Given the description of an element on the screen output the (x, y) to click on. 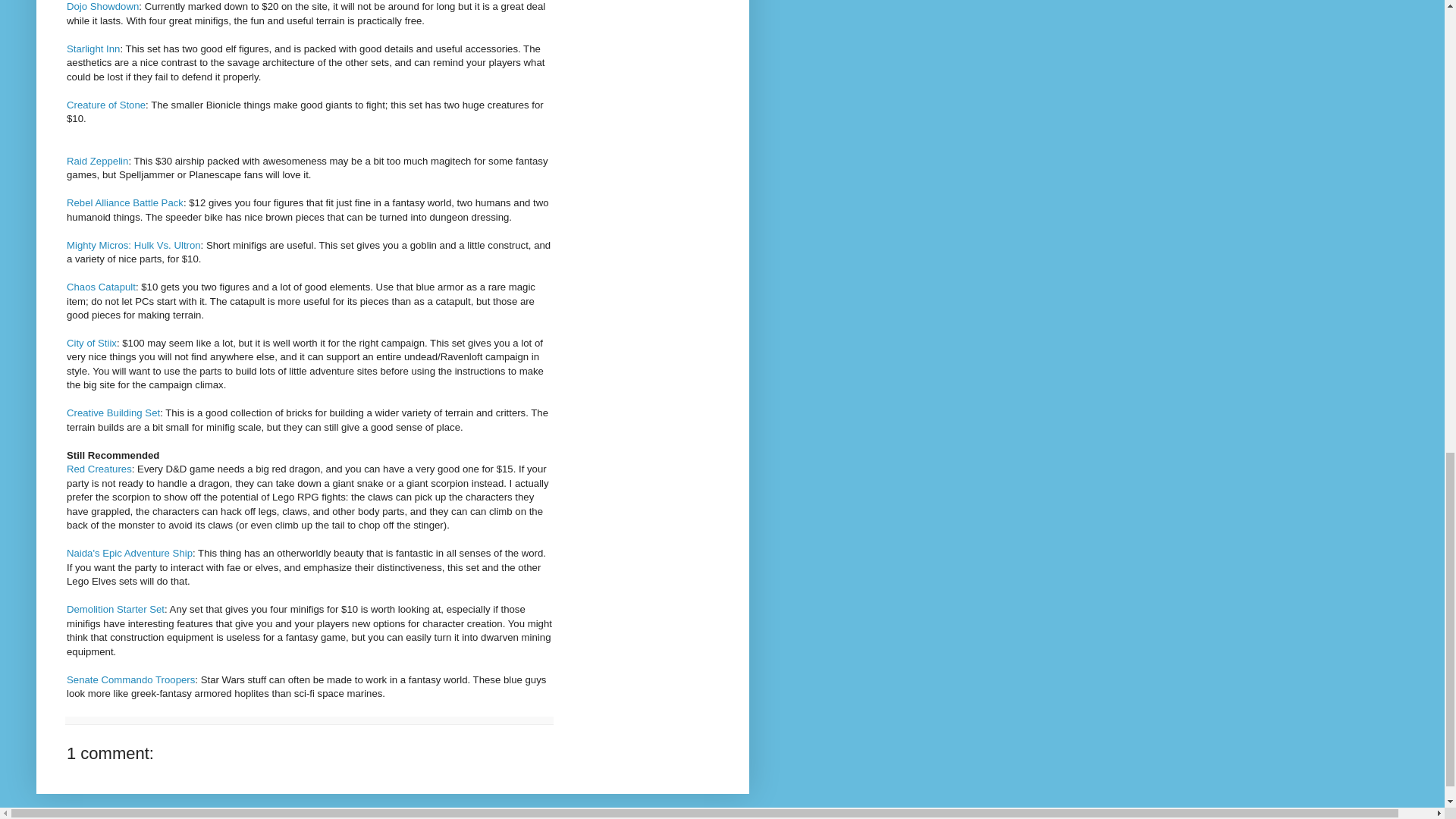
Chaos Catapult (100, 286)
Dojo Showdown (102, 6)
Creative Building Set (113, 412)
Senate Commando Troopers (130, 679)
Raid Zeppelin (97, 161)
City of Stiix (91, 342)
Rebel Alliance Battle Pack (124, 202)
Red Creatures (99, 469)
Mighty Micros: Hulk Vs. Ultron (133, 244)
Demolition Starter Set (115, 609)
